Given the description of an element on the screen output the (x, y) to click on. 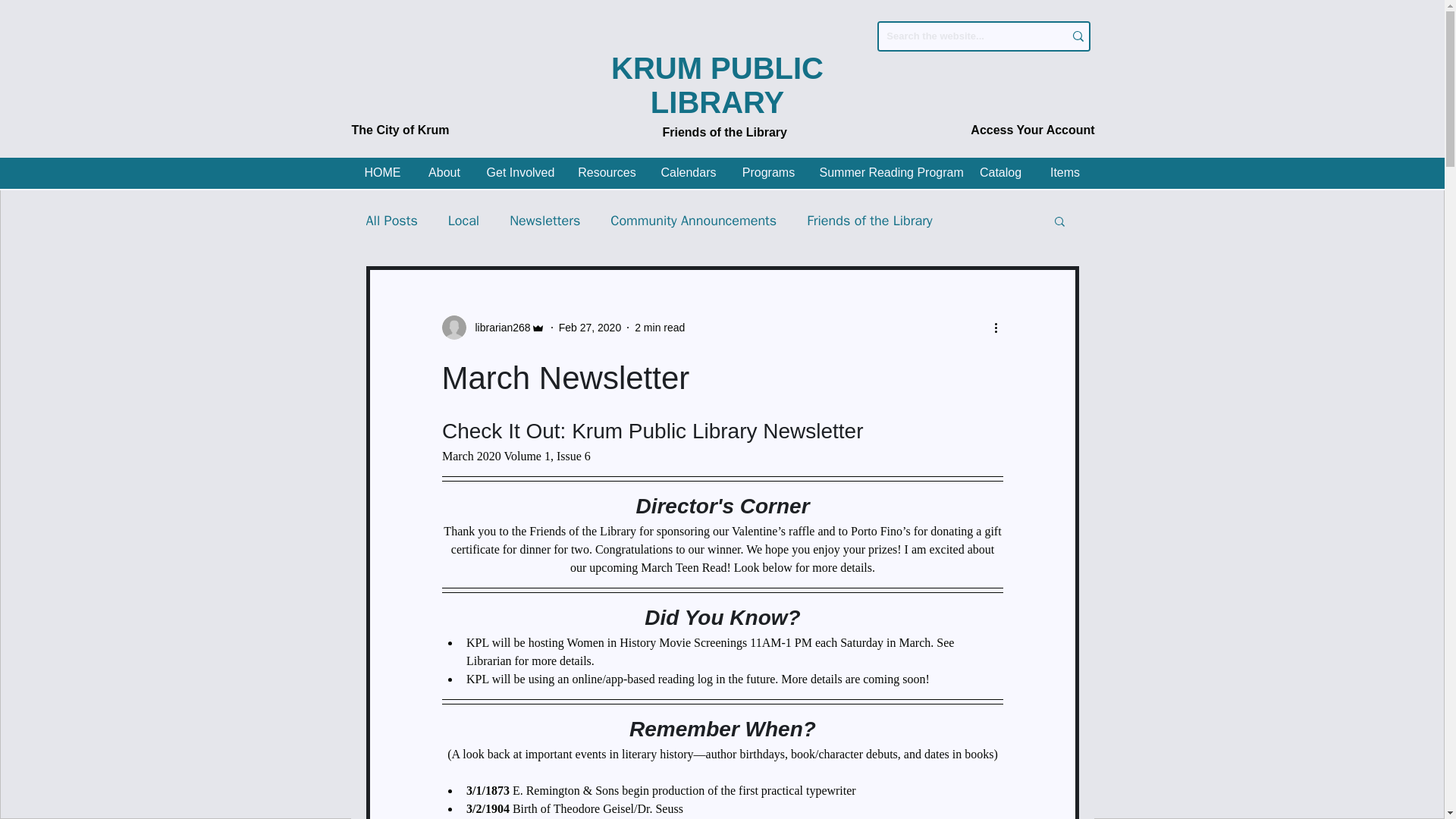
Catalog (1000, 172)
2 min read (659, 327)
All Posts (390, 220)
Community Announcements (693, 220)
Friends of the Library (868, 220)
The City of Krum (400, 130)
Feb 27, 2020 (590, 327)
KRUM PUBLIC LIBRARY (717, 84)
Access Your Account (1033, 130)
HOME (382, 172)
Items (1064, 172)
Newsletters (544, 220)
Local (463, 220)
librarian268 (497, 327)
Friends of the Library (724, 133)
